Given the description of an element on the screen output the (x, y) to click on. 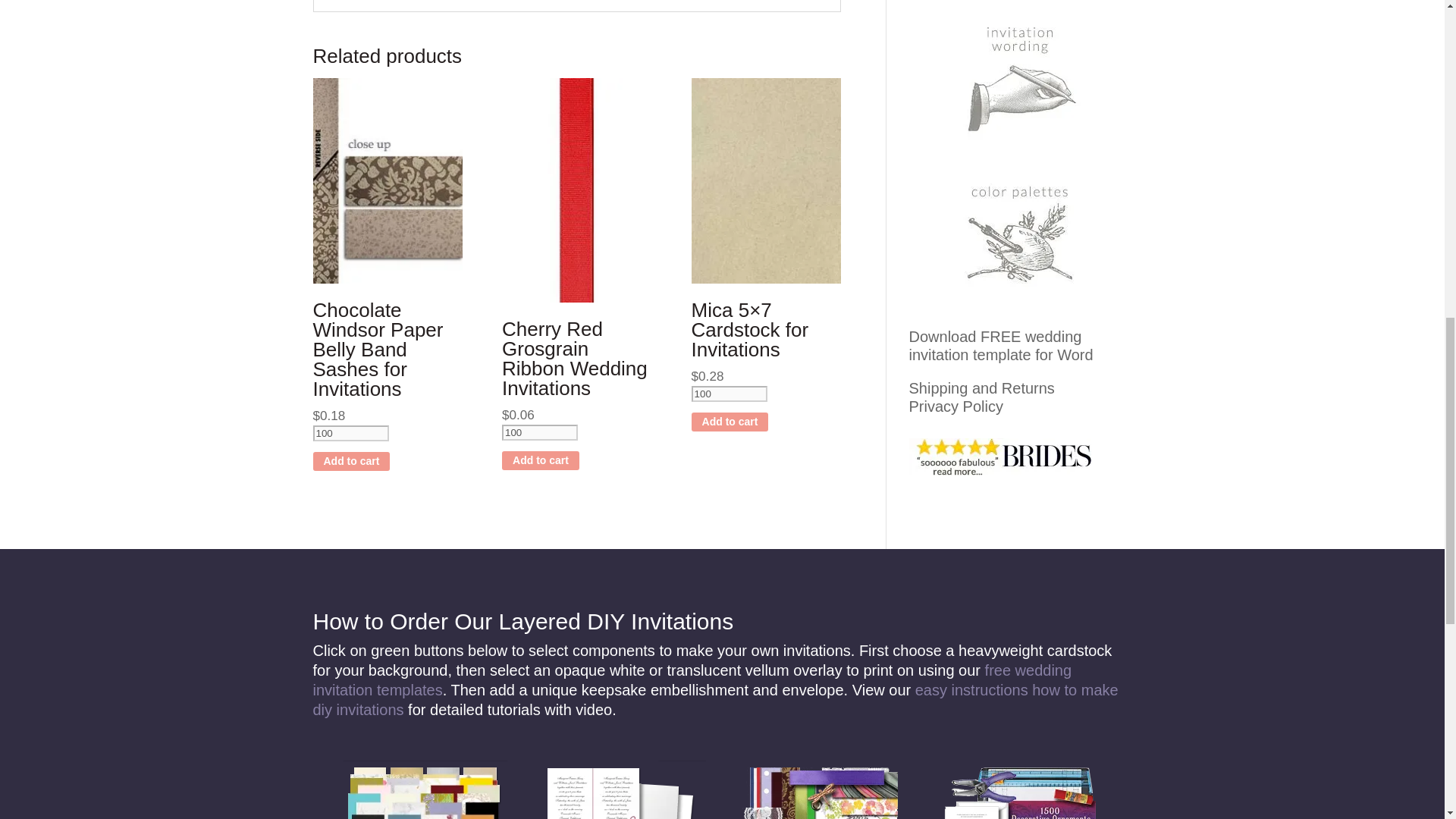
order-overlay (622, 789)
order-cardstock (423, 789)
100 (729, 393)
order-embellishments (821, 789)
100 (540, 432)
order-envelopes (1020, 789)
100 (350, 433)
